Given the description of an element on the screen output the (x, y) to click on. 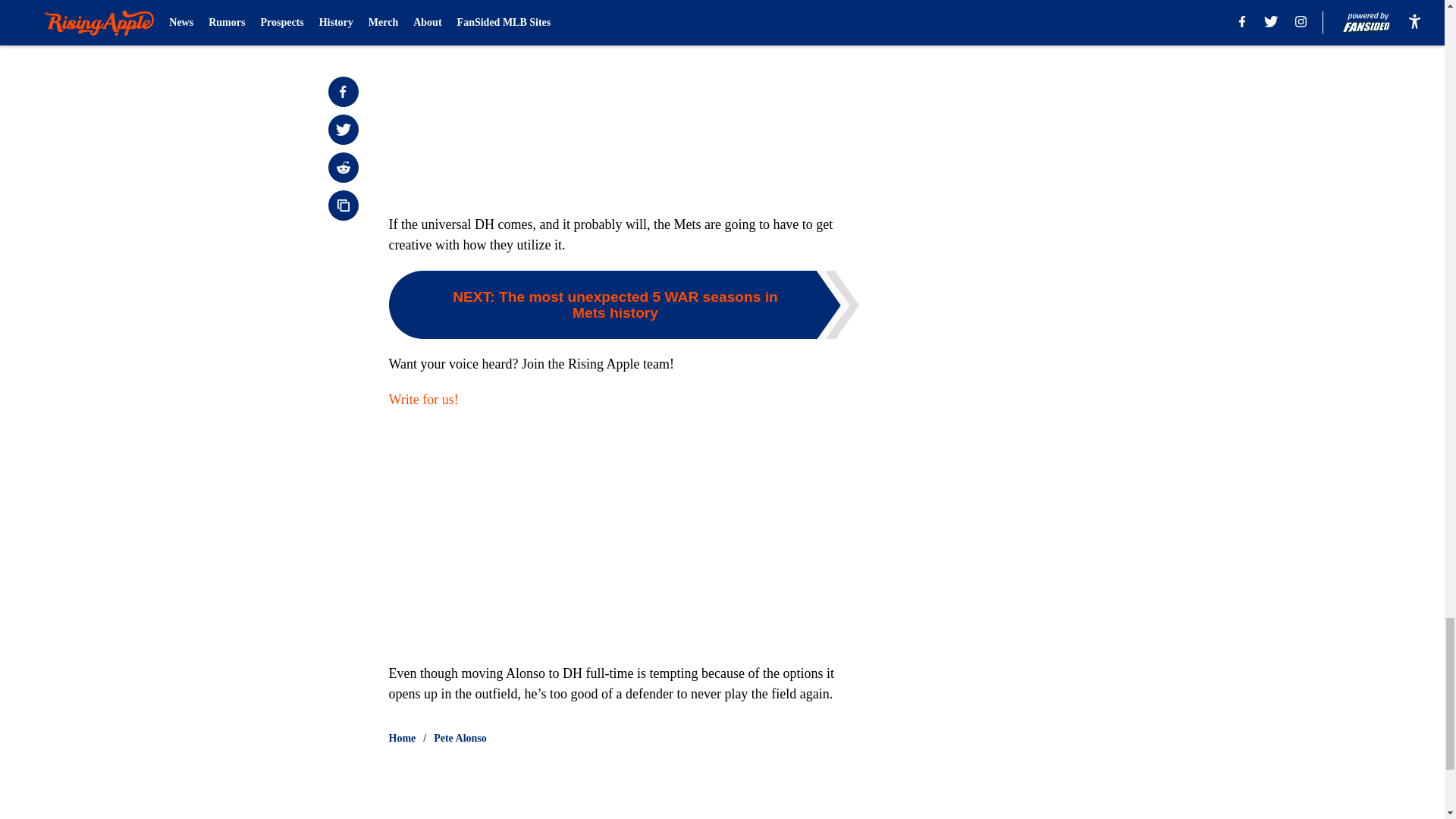
Home (401, 738)
NEXT: The most unexpected 5 WAR seasons in Mets history (623, 305)
Pete Alonso (459, 738)
Write for us! (423, 399)
